Given the description of an element on the screen output the (x, y) to click on. 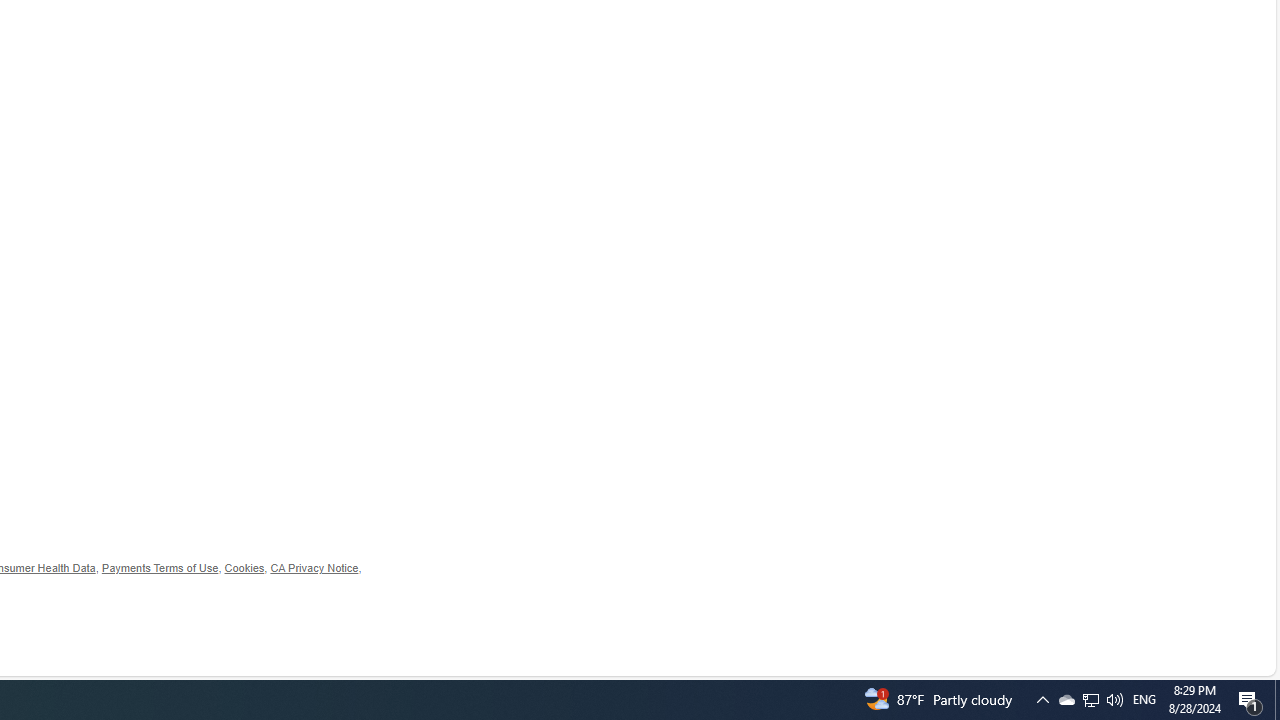
CA Privacy Notice (314, 567)
Payments Terms of Use (159, 567)
Cookies (244, 567)
